Given the description of an element on the screen output the (x, y) to click on. 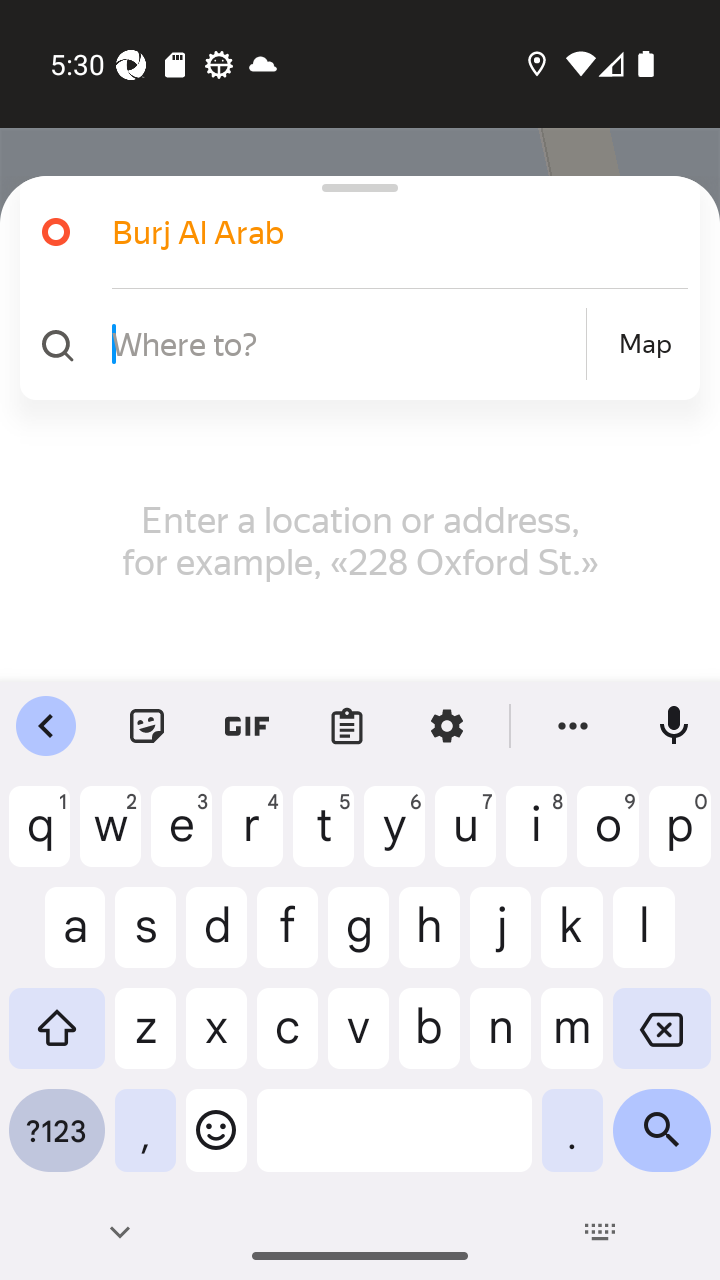
Burj Al Arab (352, 232)
Burj Al Arab (373, 232)
Where to? Map Map (352, 343)
Map (645, 343)
Where to? (346, 343)
